Given the description of an element on the screen output the (x, y) to click on. 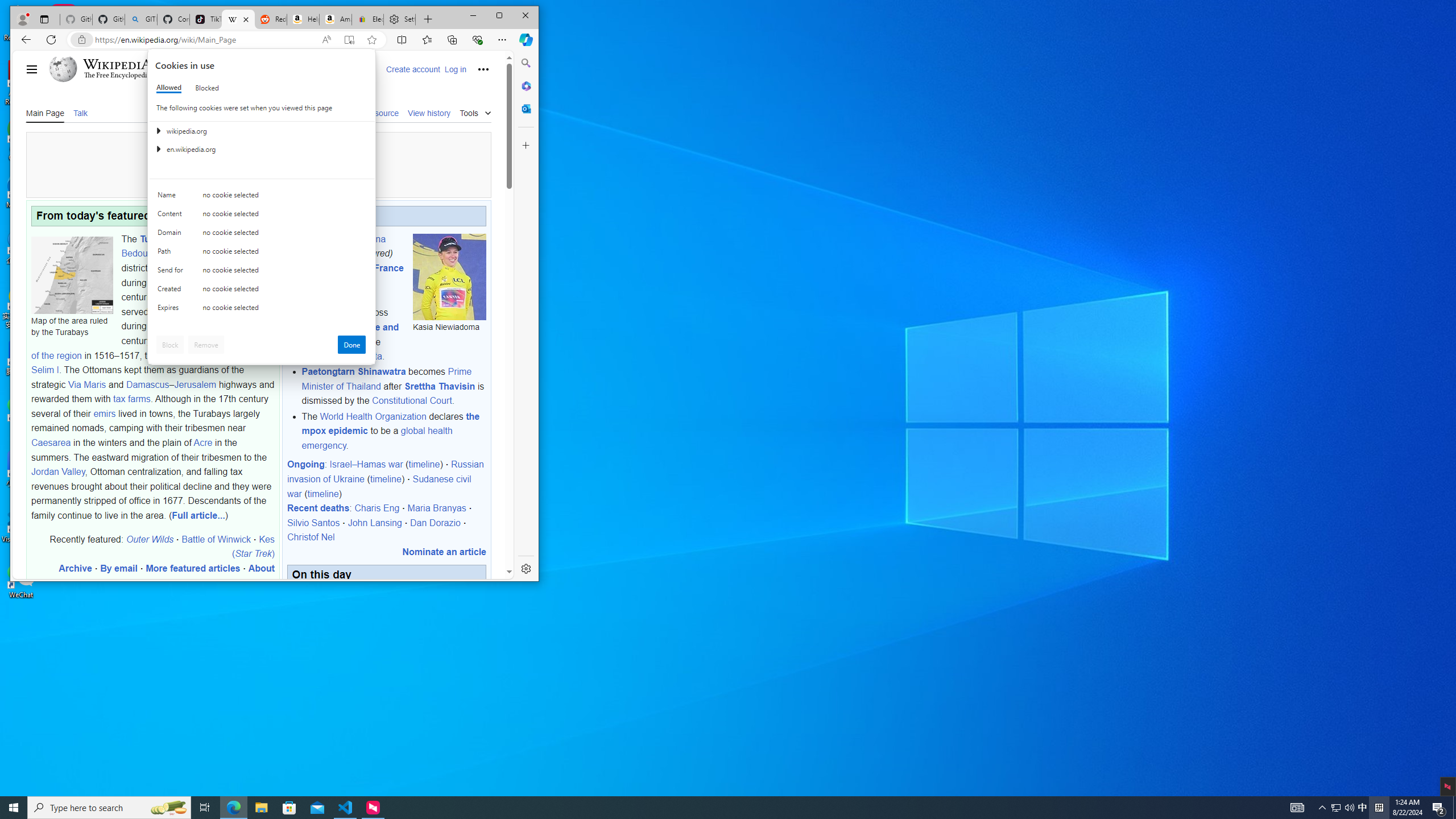
AutomationID: 4105 (1297, 807)
Domain (172, 235)
Notification Chevron (1322, 807)
Task View (204, 807)
User Promoted Notification Area (1342, 807)
Block (169, 344)
Microsoft Store (289, 807)
Show desktop (1454, 807)
Class: c0153 c0157 (261, 309)
Tray Input Indicator - Chinese (Simplified, China) (1378, 807)
Microsoft Edge - 1 running window (233, 807)
Path (172, 253)
no cookie selected (284, 310)
Expires (172, 310)
Send for (172, 272)
